Given the description of an element on the screen output the (x, y) to click on. 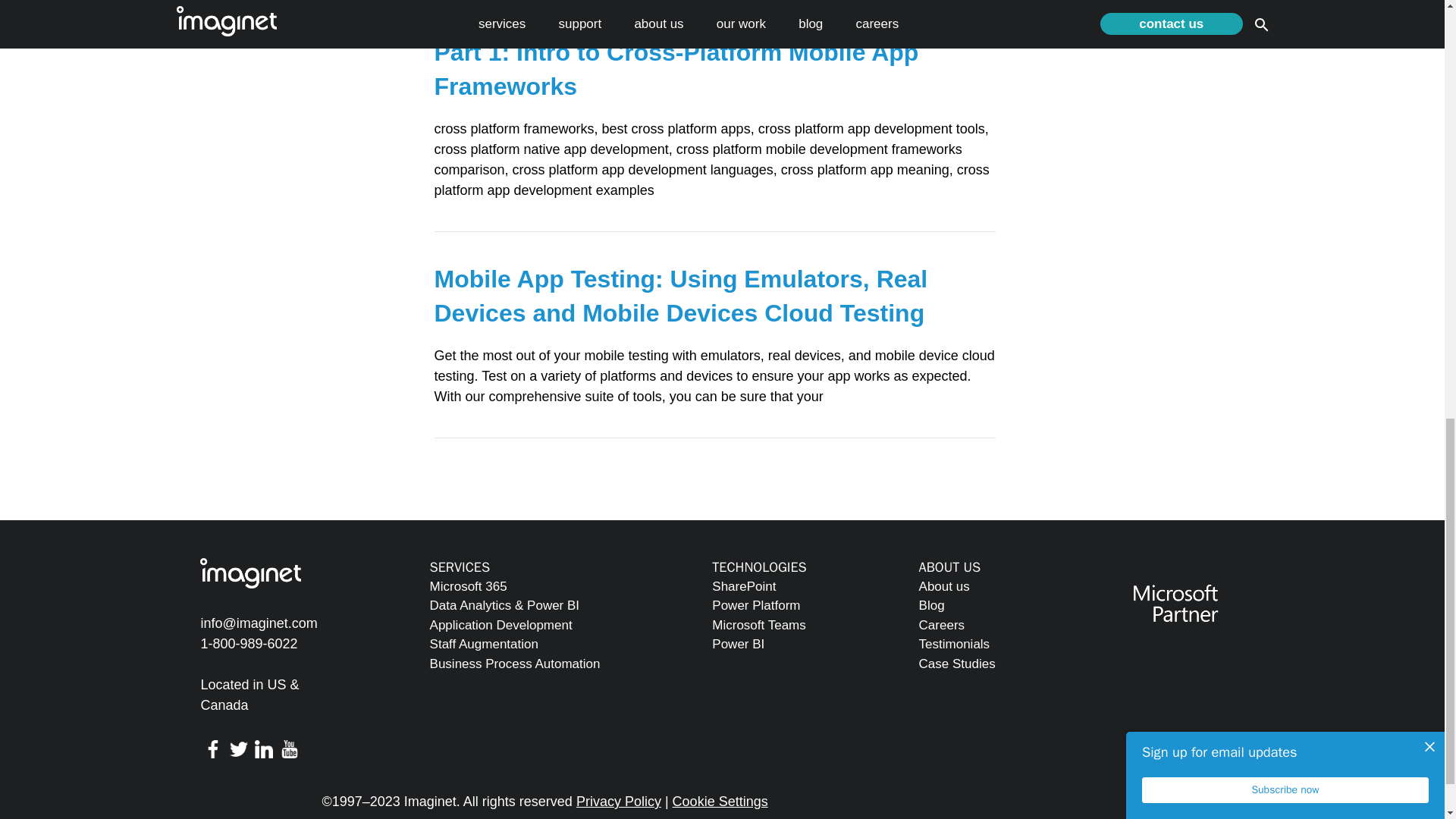
Scroll back to top (1406, 625)
